Given the description of an element on the screen output the (x, y) to click on. 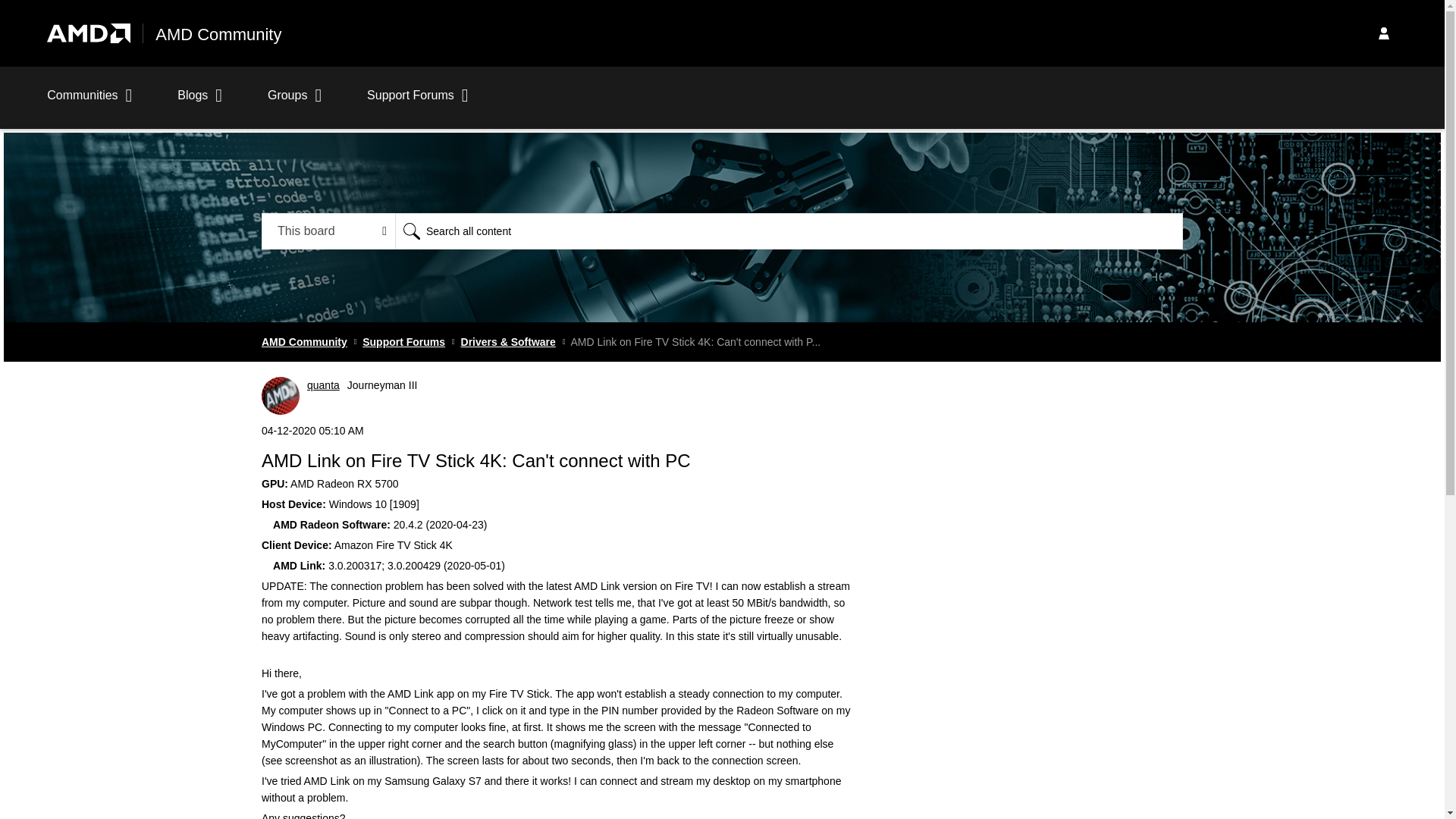
Search (411, 230)
Support Forums (403, 341)
Blogs (199, 103)
AMD Community (218, 34)
Search (788, 230)
AMD Logo (88, 32)
Posted on (557, 430)
Search (411, 230)
Search (411, 230)
Communities (89, 103)
Sign In (1383, 32)
AMD Community (304, 341)
Search Granularity (329, 230)
Support Forums (416, 103)
Groups (294, 103)
